Given the description of an element on the screen output the (x, y) to click on. 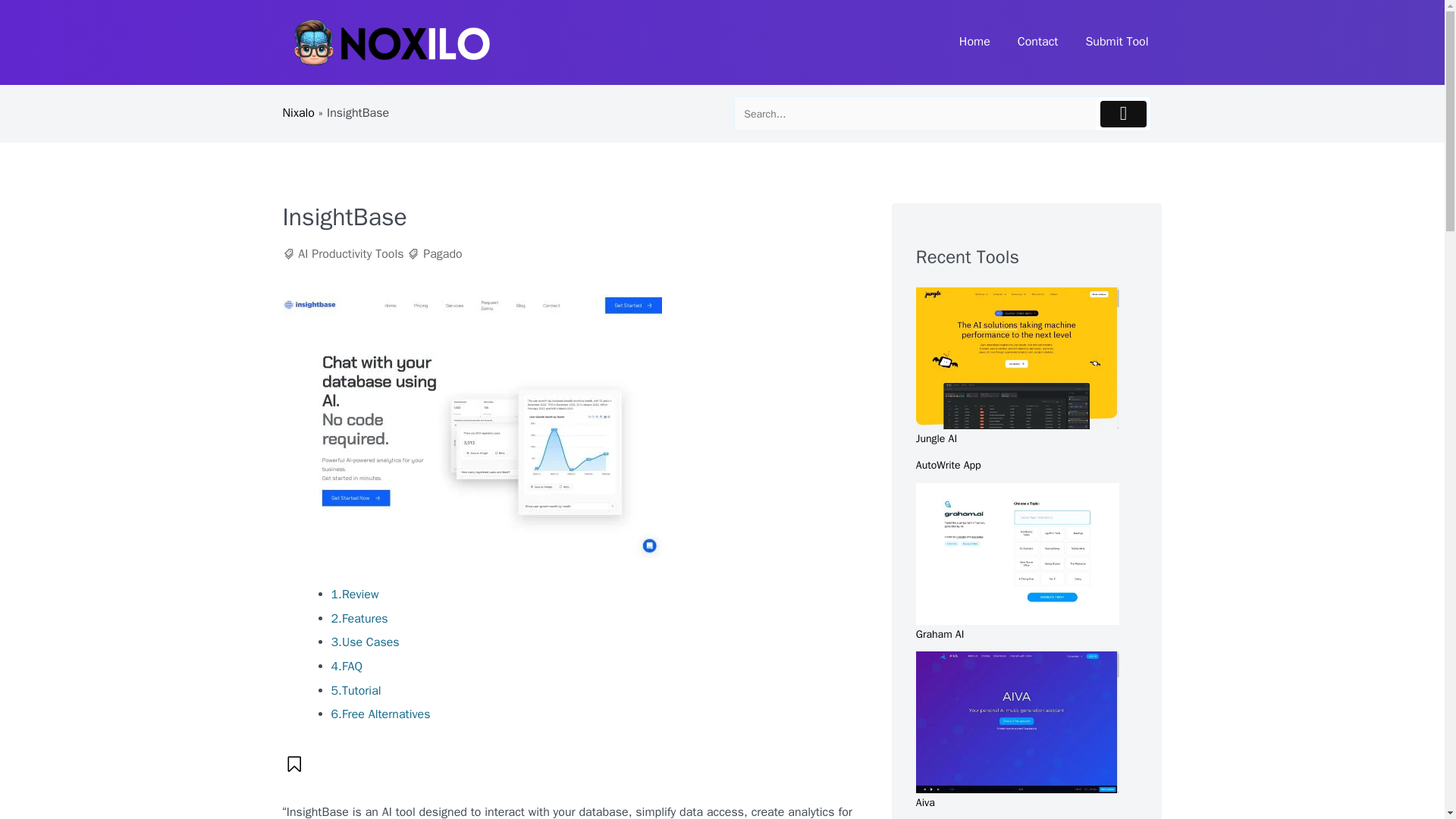
Submit (1123, 113)
Bookmark This (294, 763)
4.FAQ (346, 666)
AI Productivity Tools (350, 254)
Search (914, 114)
Contact (1038, 42)
Jungle AI (935, 438)
2.Features (358, 618)
Home (974, 42)
